Given the description of an element on the screen output the (x, y) to click on. 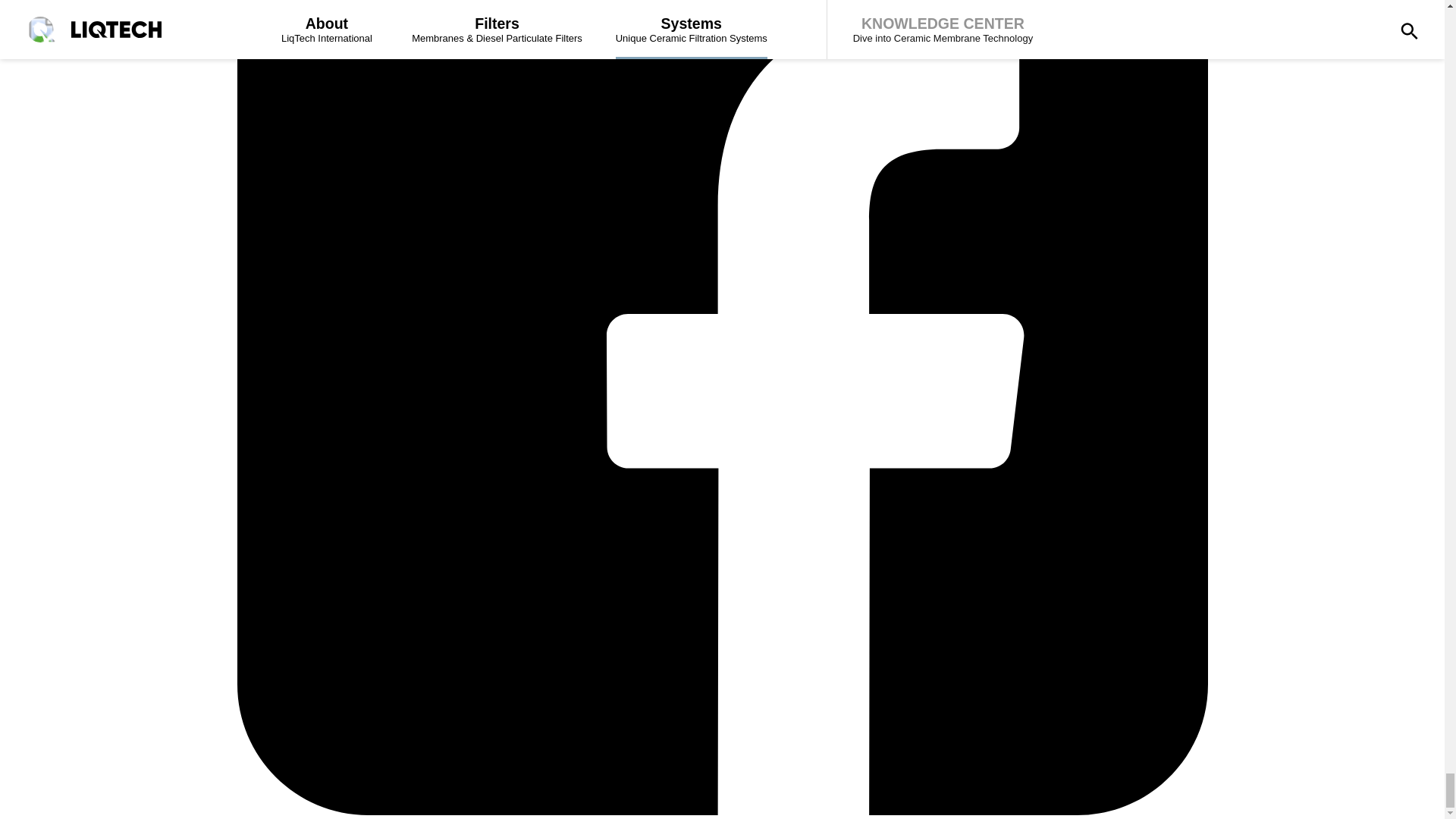
Facebook (721, 810)
